Given the description of an element on the screen output the (x, y) to click on. 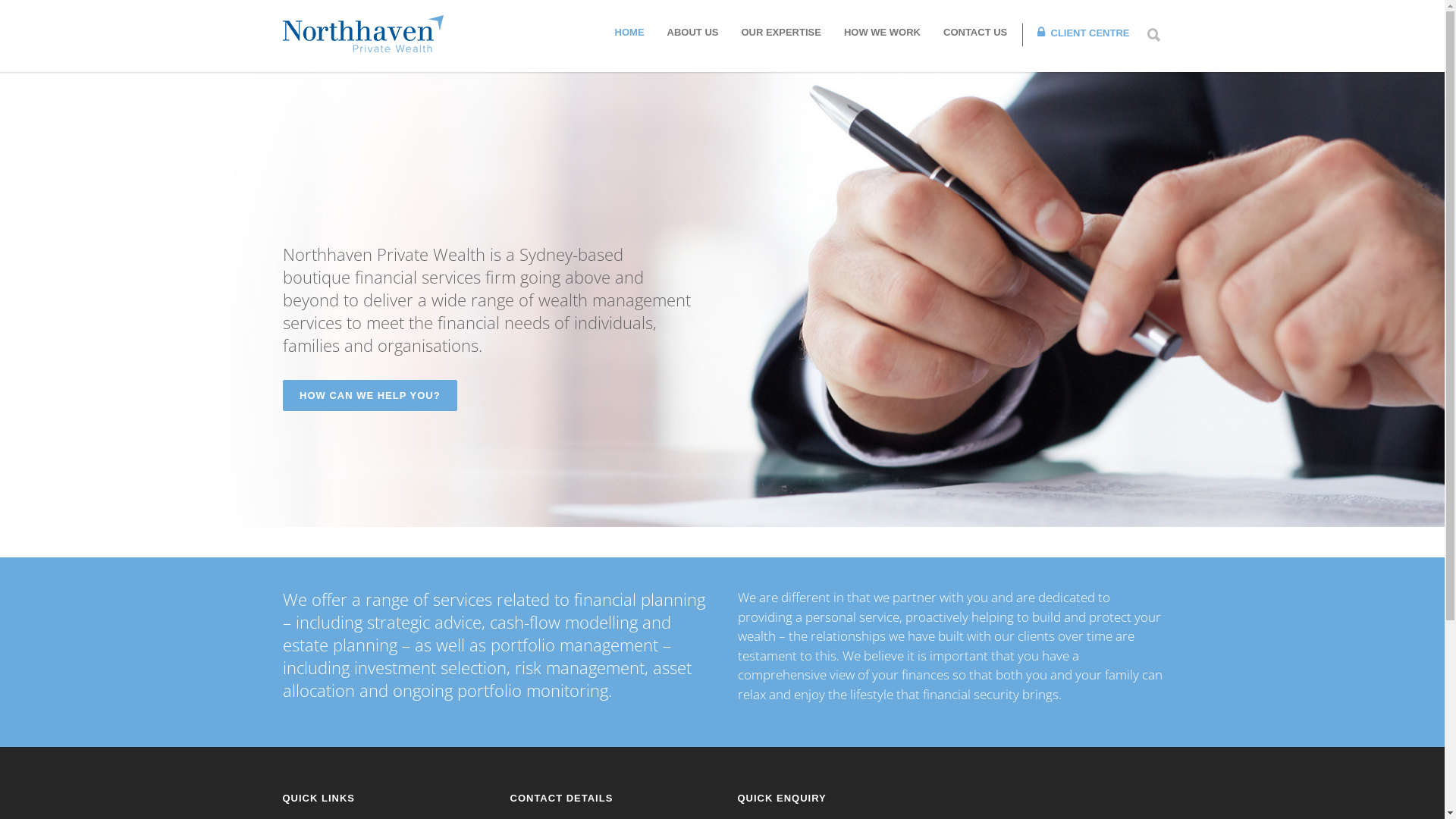
CONTACT US Element type: text (974, 31)
HOW CAN WE HELP YOU? Element type: text (369, 395)
ABOUT US Element type: text (692, 31)
HOW WE WORK Element type: text (881, 31)
OUR EXPERTISE Element type: text (780, 31)
HOME Element type: text (629, 31)
  CLIENT CENTRE Element type: text (1083, 32)
